Given the description of an element on the screen output the (x, y) to click on. 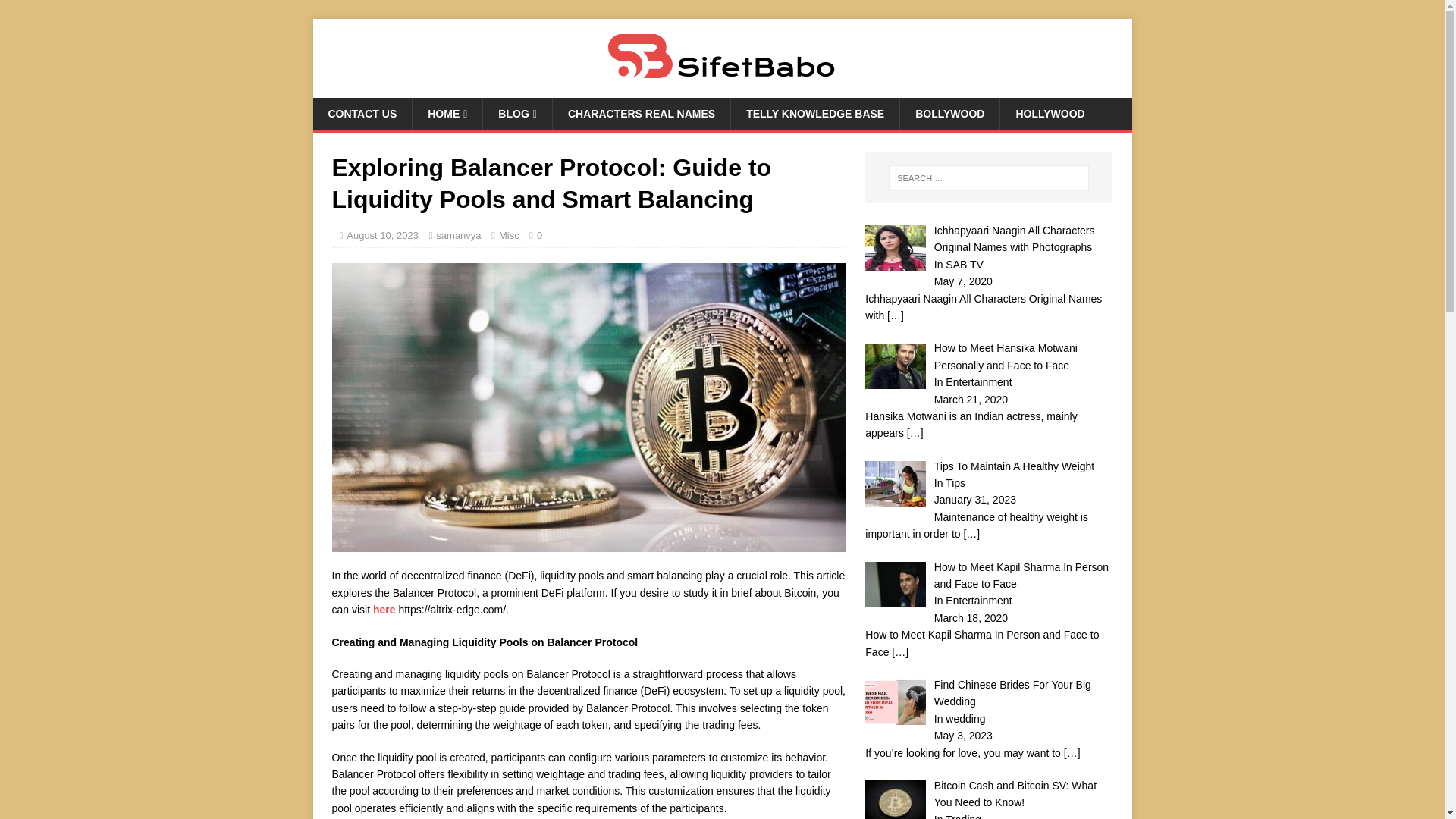
HOME (446, 113)
CONTACT US (362, 113)
BLOG (516, 113)
